Given the description of an element on the screen output the (x, y) to click on. 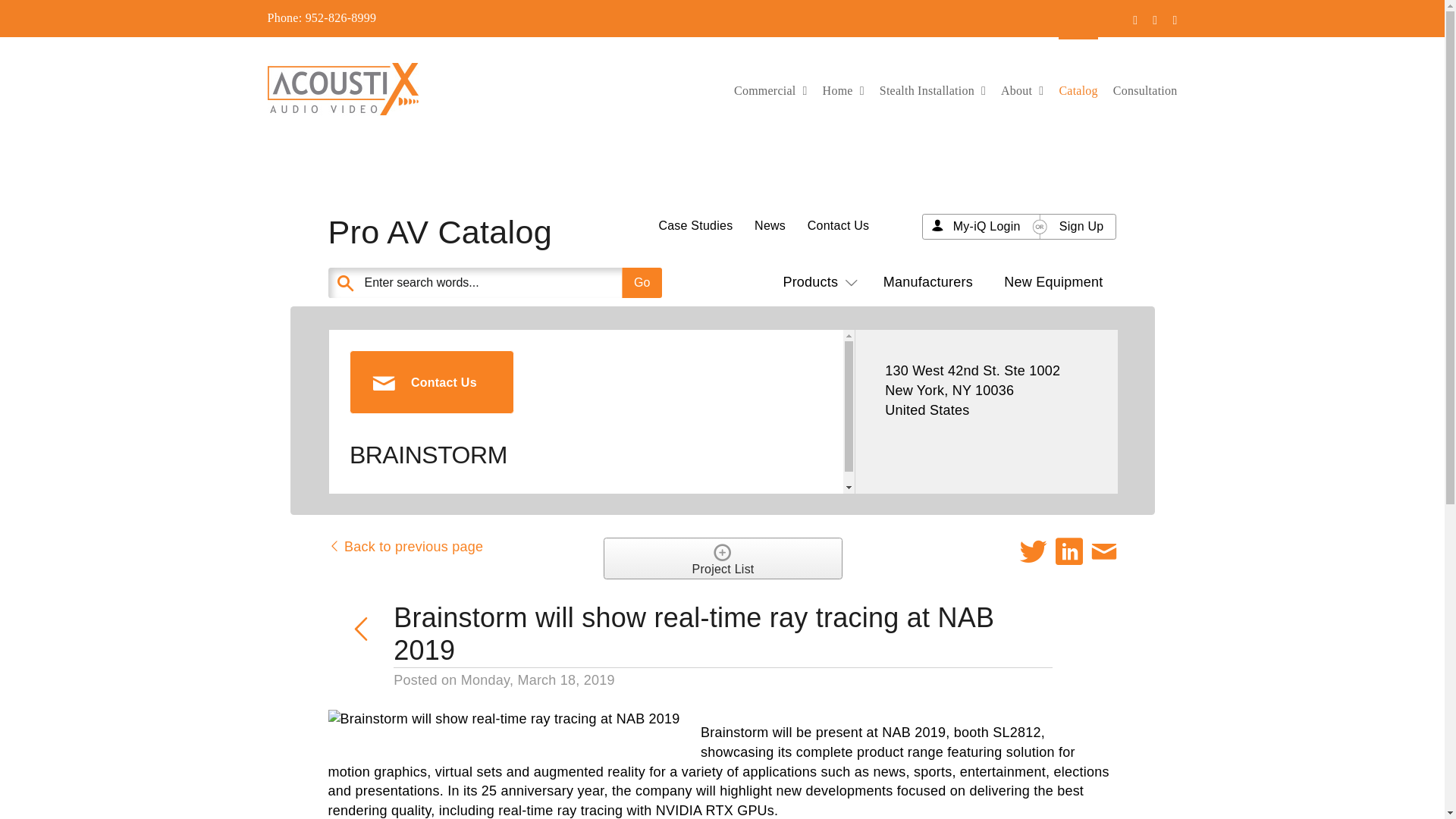
Go (641, 282)
Stealth Installation (932, 88)
Enter search words... (531, 282)
Go (641, 282)
